Given the description of an element on the screen output the (x, y) to click on. 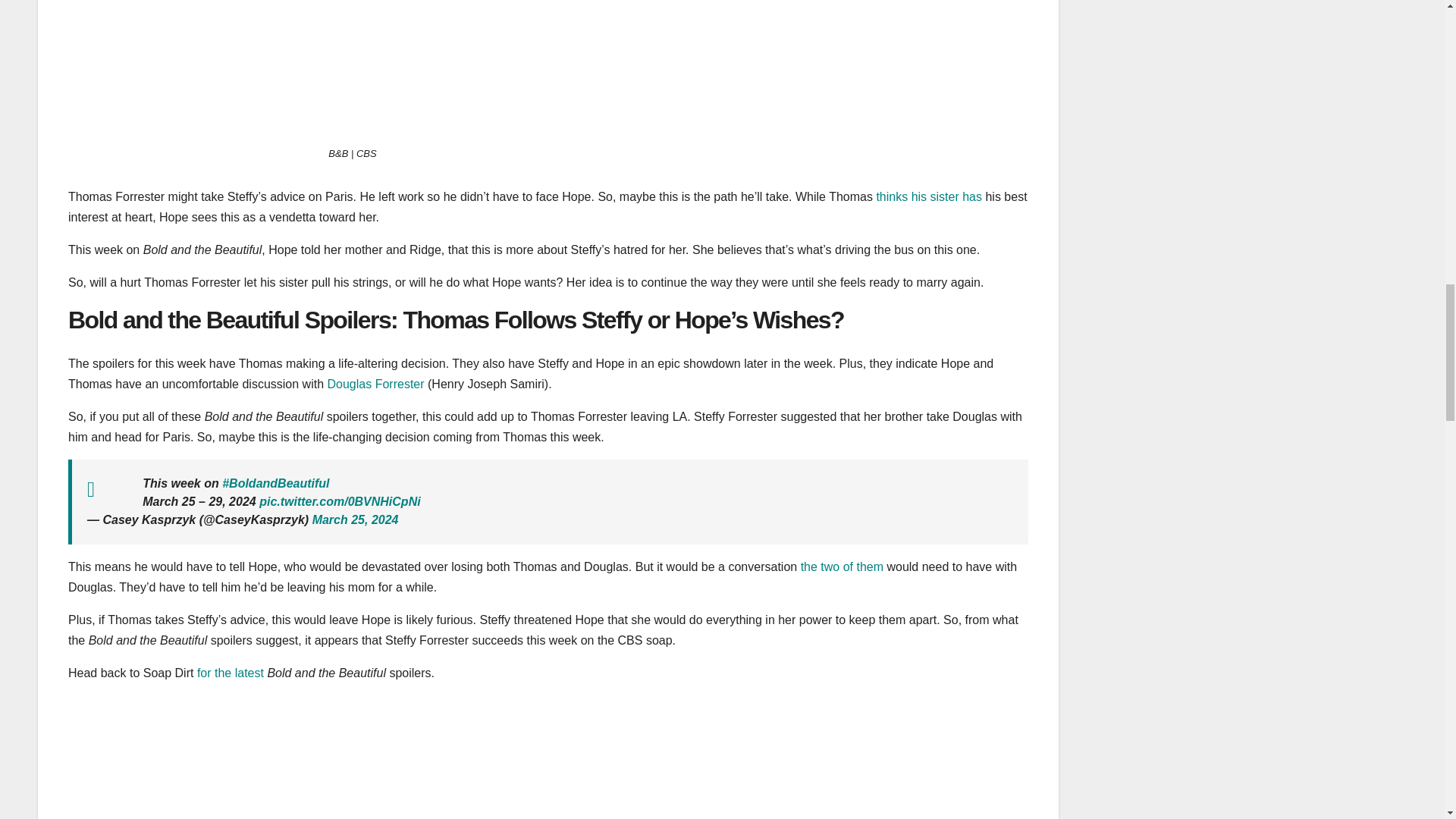
March 25, 2024 (355, 519)
for the latest (229, 672)
the two of them (841, 566)
Douglas Forrester (376, 383)
thinks his sister has (928, 196)
